Given the description of an element on the screen output the (x, y) to click on. 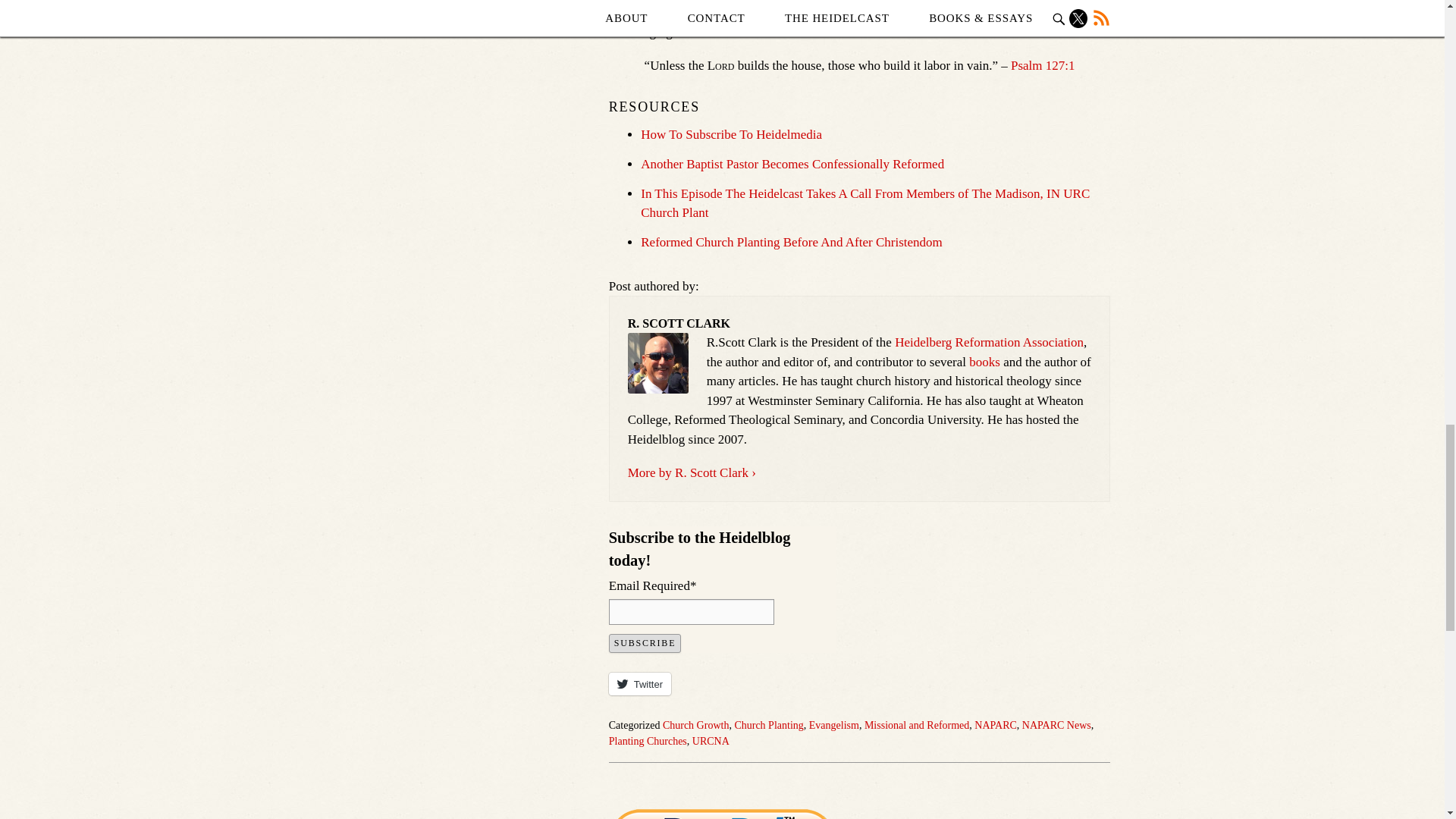
How To Subscribe To Heidelmedia (731, 134)
Support the Heidelblog! (721, 814)
books (984, 361)
Reformed Church Planting Before And After Christendom (791, 242)
Twitter (639, 683)
madisonreformed.com (873, 32)
Subscribe (644, 642)
Psalm 127:1 (1042, 65)
Another Baptist Pastor Becomes Confessionally Reformed (791, 164)
Click to share on Twitter (639, 683)
Heidelberg Reformation Association (989, 341)
Subscribe (644, 642)
